Given the description of an element on the screen output the (x, y) to click on. 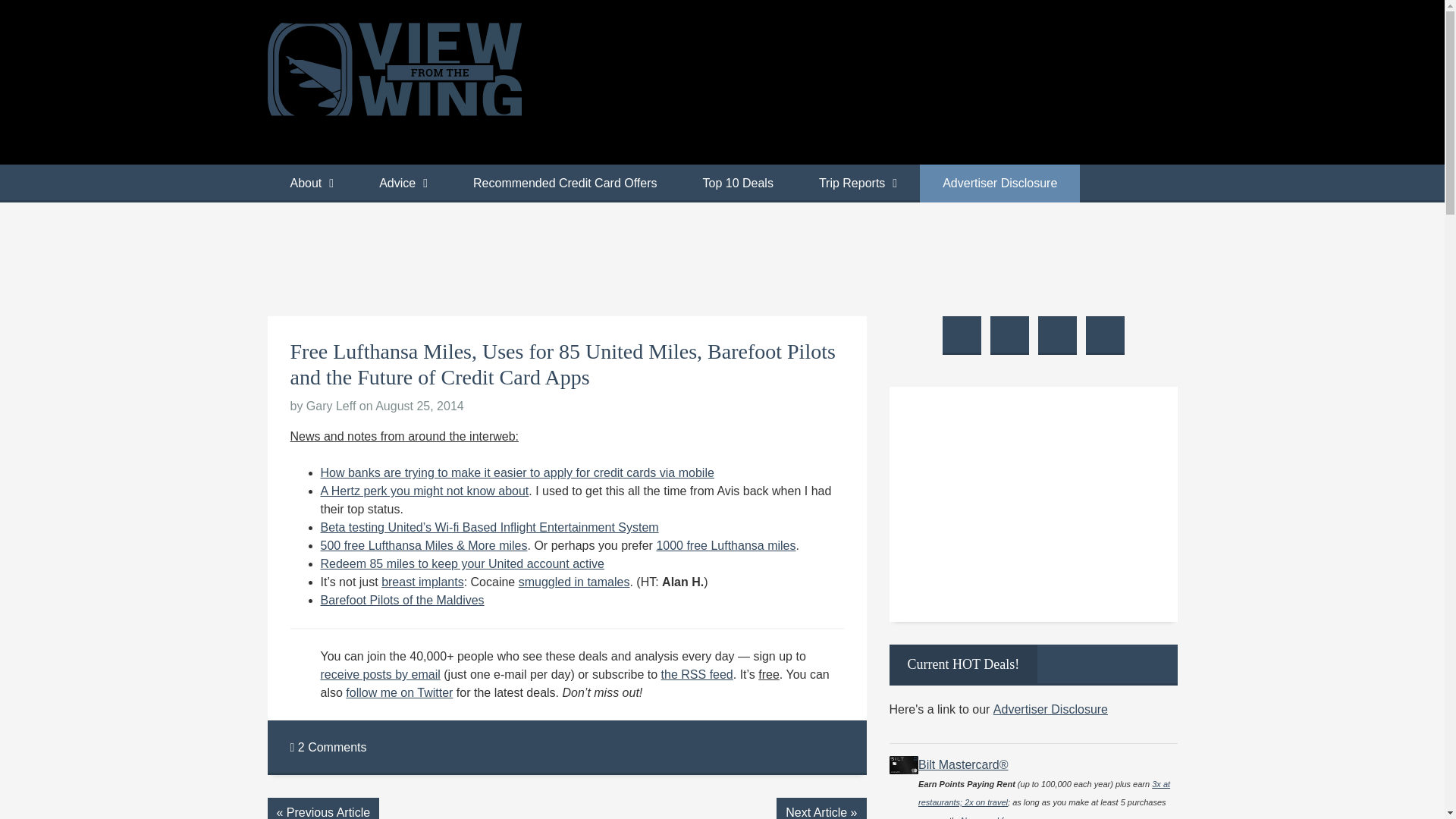
1000 free Lufthansa miles (725, 545)
2 Comments (327, 747)
Advertiser Disclosure (1000, 183)
the RSS feed (697, 674)
breast implants (422, 581)
follow me on Twitter (399, 692)
A Hertz perk you might not know about (424, 490)
About (311, 183)
smuggled in tamales (574, 581)
